Given the description of an element on the screen output the (x, y) to click on. 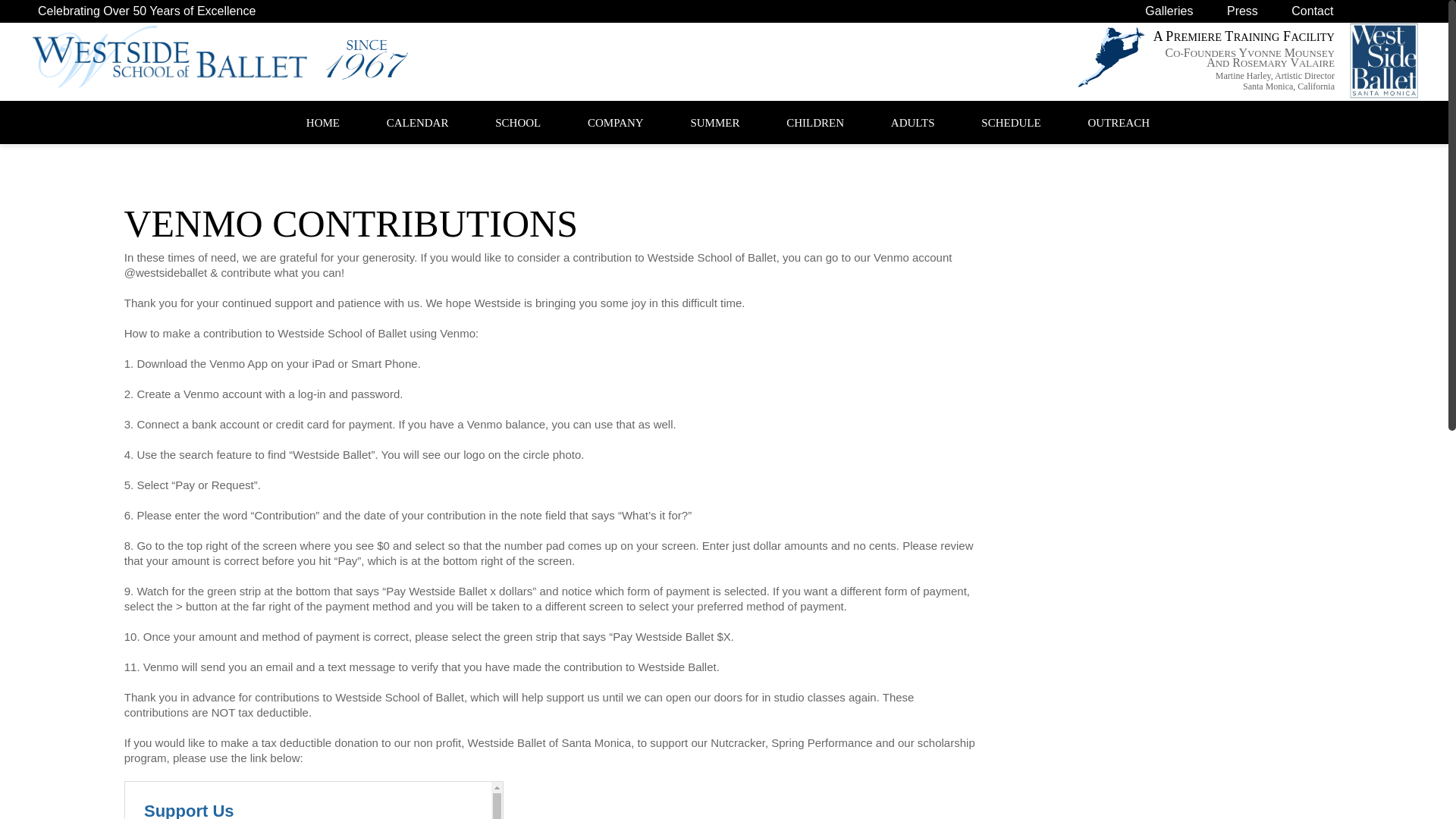
Press (1242, 10)
SUMMER (714, 122)
COMPANY (615, 122)
Celebrating Over 50 Years of Excellence (146, 10)
CHILDREN (815, 122)
Galleries (1168, 10)
CALENDAR (417, 122)
Contact (1312, 10)
WSB Logo (1383, 60)
HOME (322, 122)
SCHOOL (517, 122)
